Given the description of an element on the screen output the (x, y) to click on. 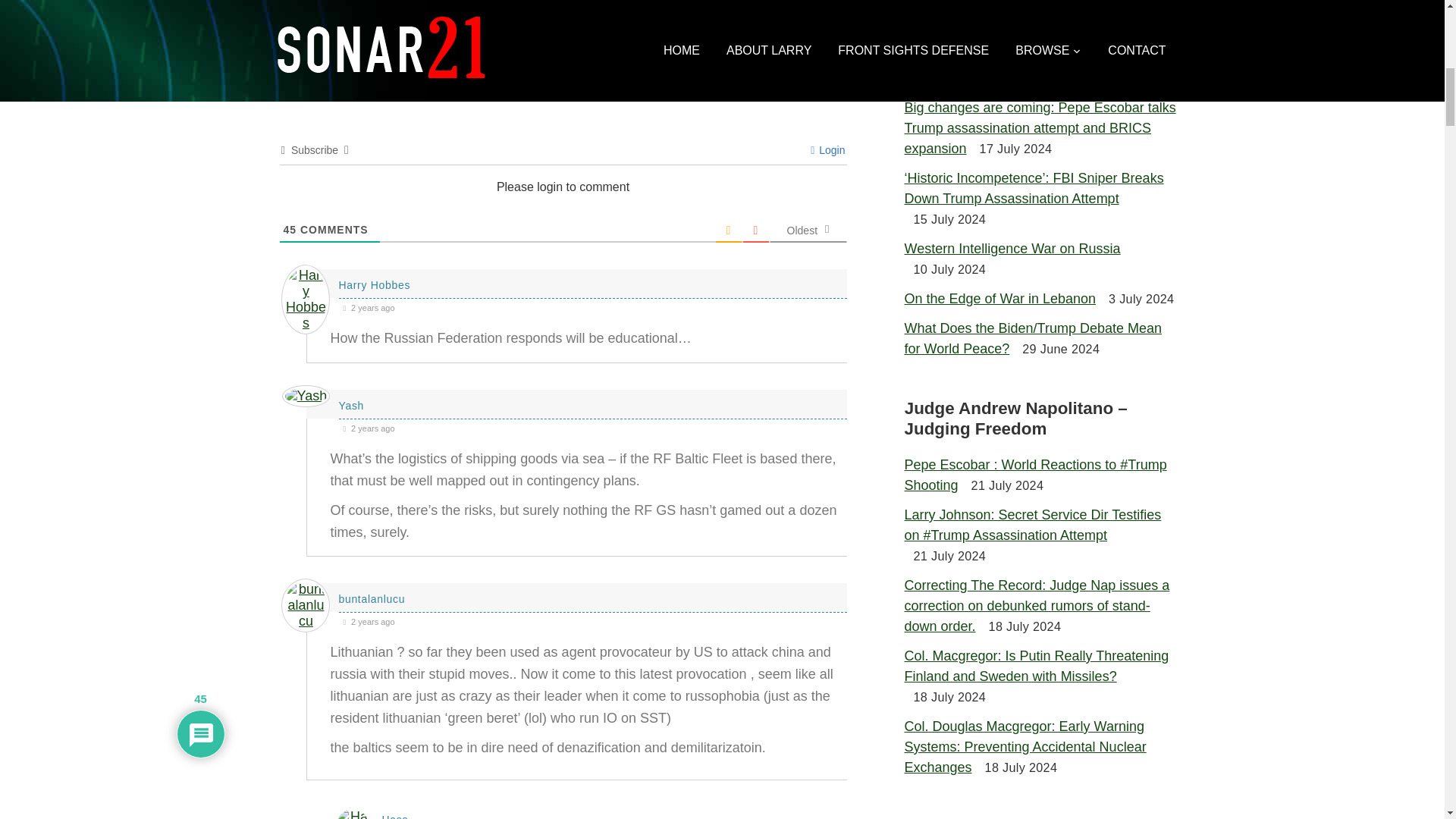
Yash (350, 405)
Harry Hobbes (373, 285)
45 (290, 229)
Login (827, 150)
18 June 2022 19:04 (592, 307)
